Given the description of an element on the screen output the (x, y) to click on. 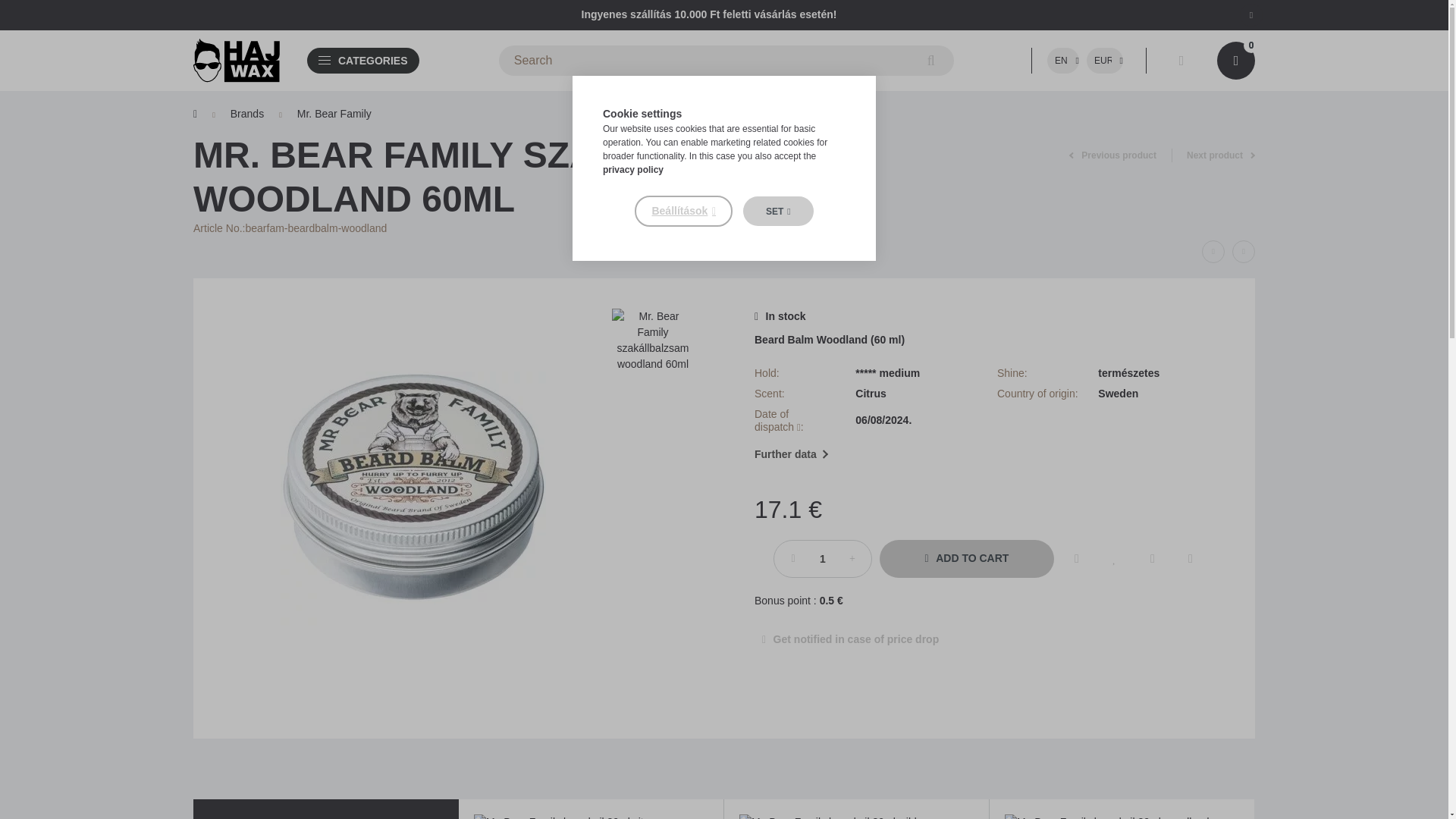
Brands (246, 114)
Mr. Bear Family beard oil 30ml woodland (1122, 816)
Further data (791, 454)
CATEGORIES (363, 59)
Mr. Bear Family beard oil 30ml wilderness (856, 816)
Mr. Bear Family (334, 114)
Further data (989, 454)
Close (1251, 14)
Mr. Bear Family beard oil 30ml citrus (591, 816)
Enter a longer search term! (726, 60)
Next product (1220, 155)
0 (1236, 60)
Search (931, 60)
Previous product (1112, 155)
